Given the description of an element on the screen output the (x, y) to click on. 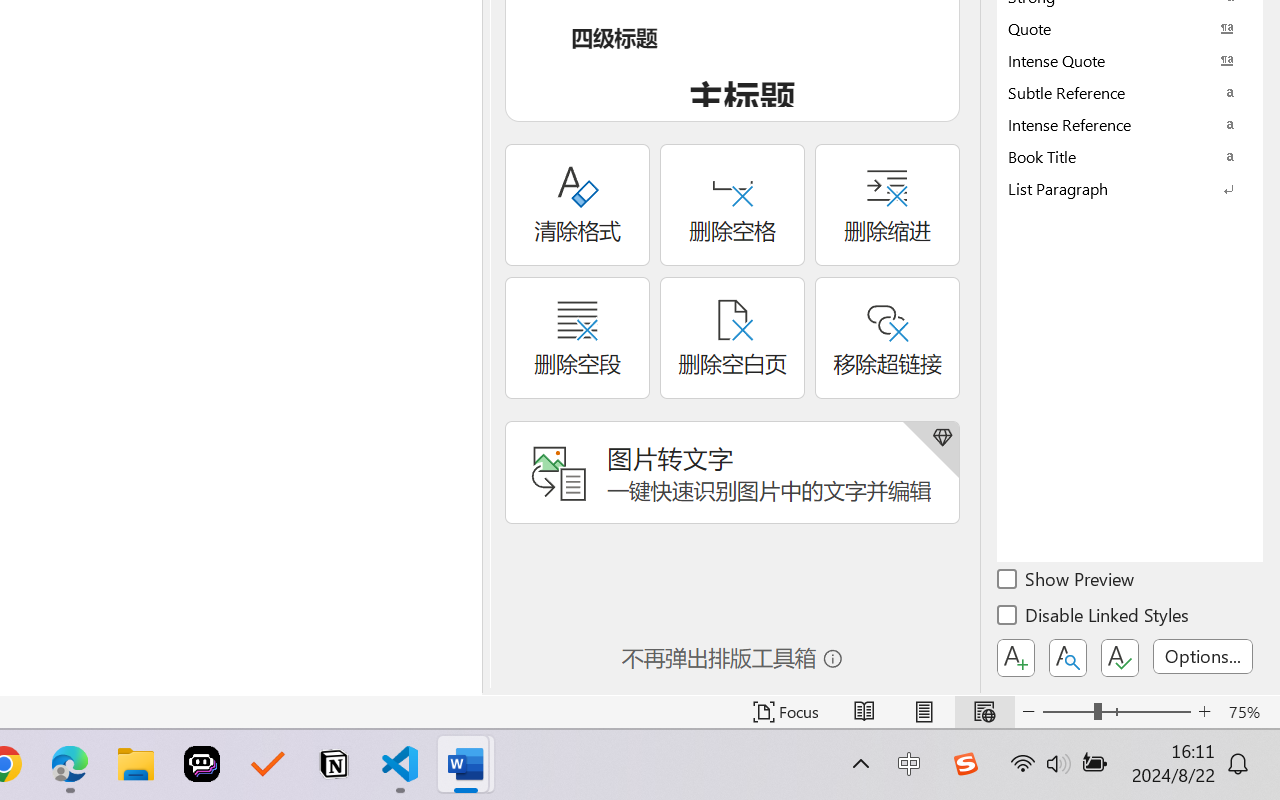
Book Title (1130, 156)
Show Preview (1067, 582)
Options... (1203, 656)
Disable Linked Styles (1094, 618)
List Paragraph (1130, 188)
